Given the description of an element on the screen output the (x, y) to click on. 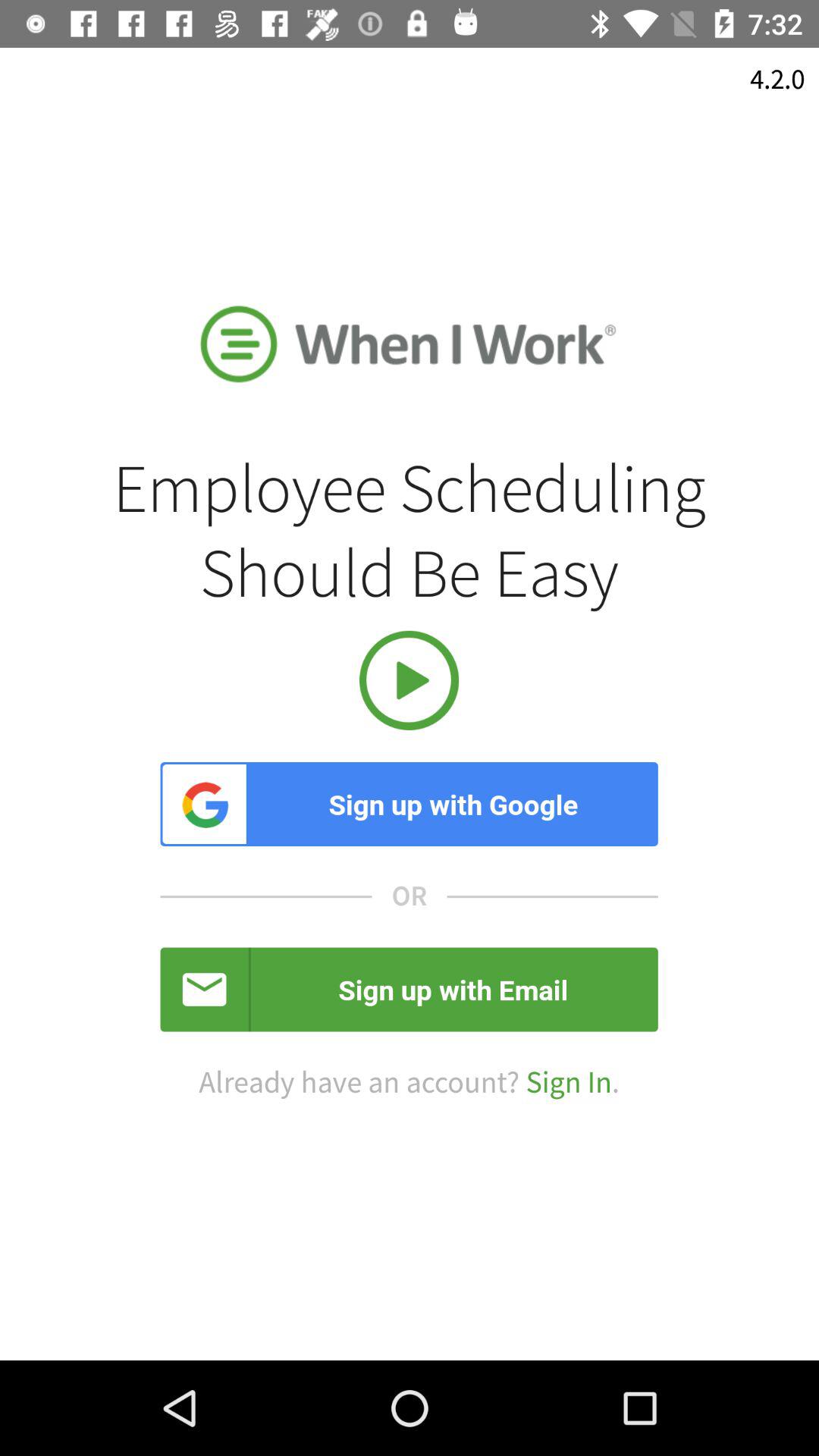
open 4.2.0 item (777, 79)
